Given the description of an element on the screen output the (x, y) to click on. 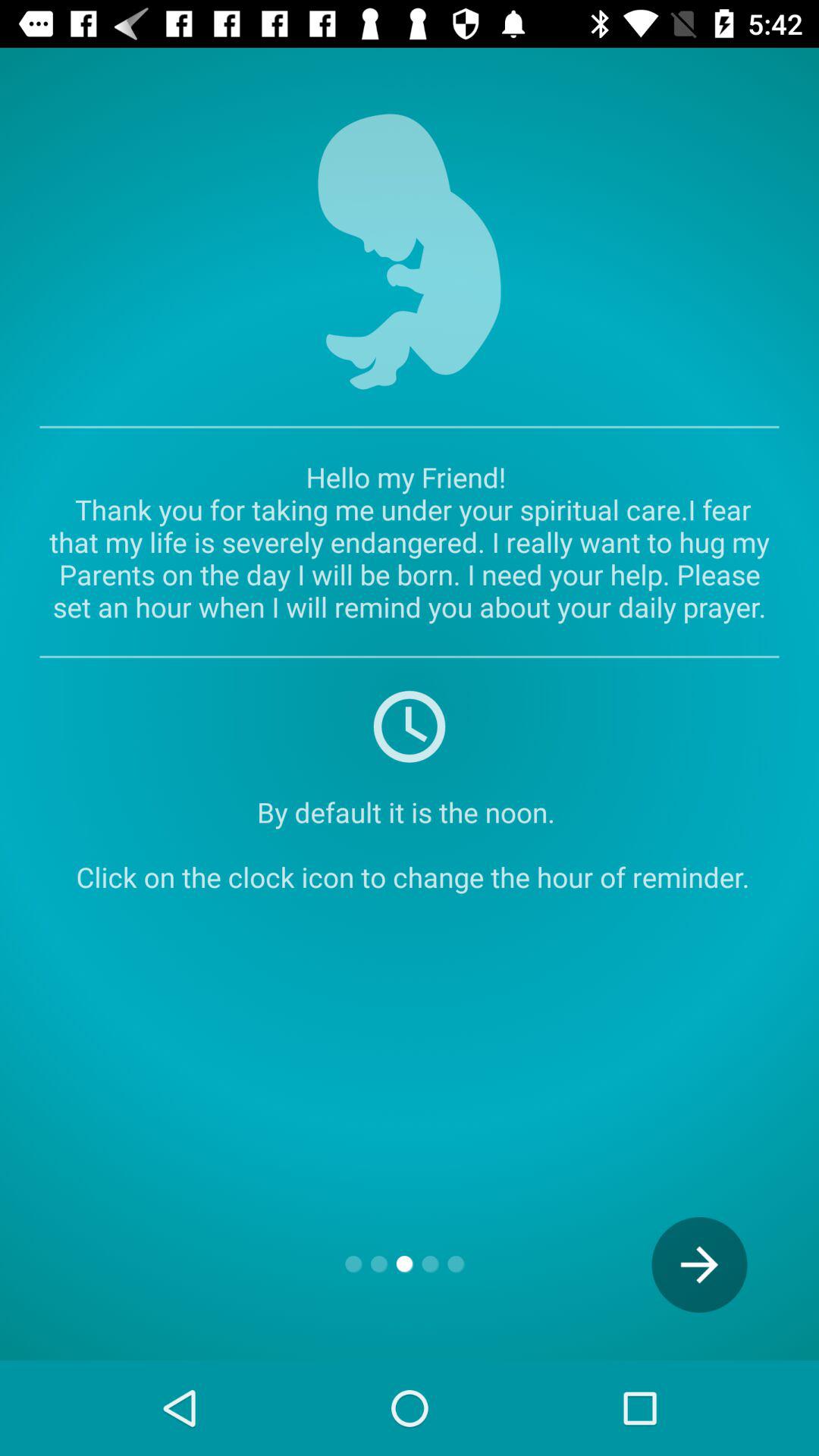
set reminder (409, 725)
